Given the description of an element on the screen output the (x, y) to click on. 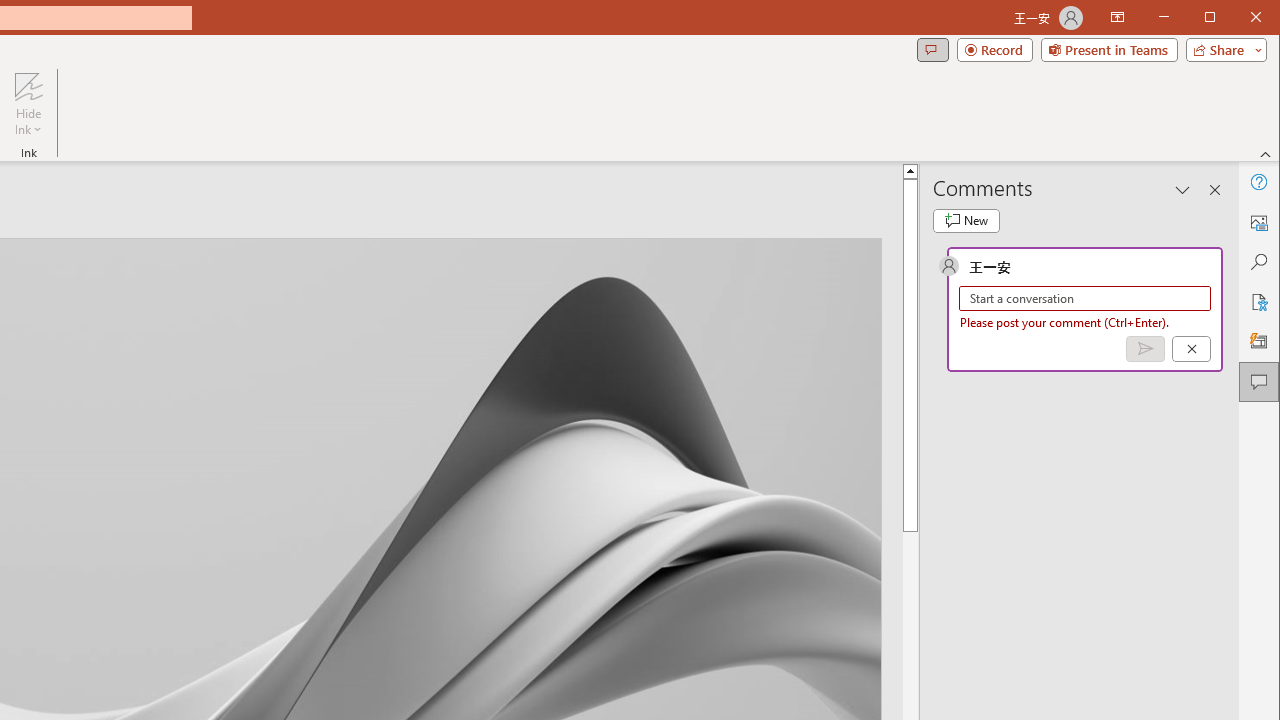
New comment (966, 220)
Post comment (Ctrl + Enter) (1145, 349)
Start a conversation (1085, 298)
